Given the description of an element on the screen output the (x, y) to click on. 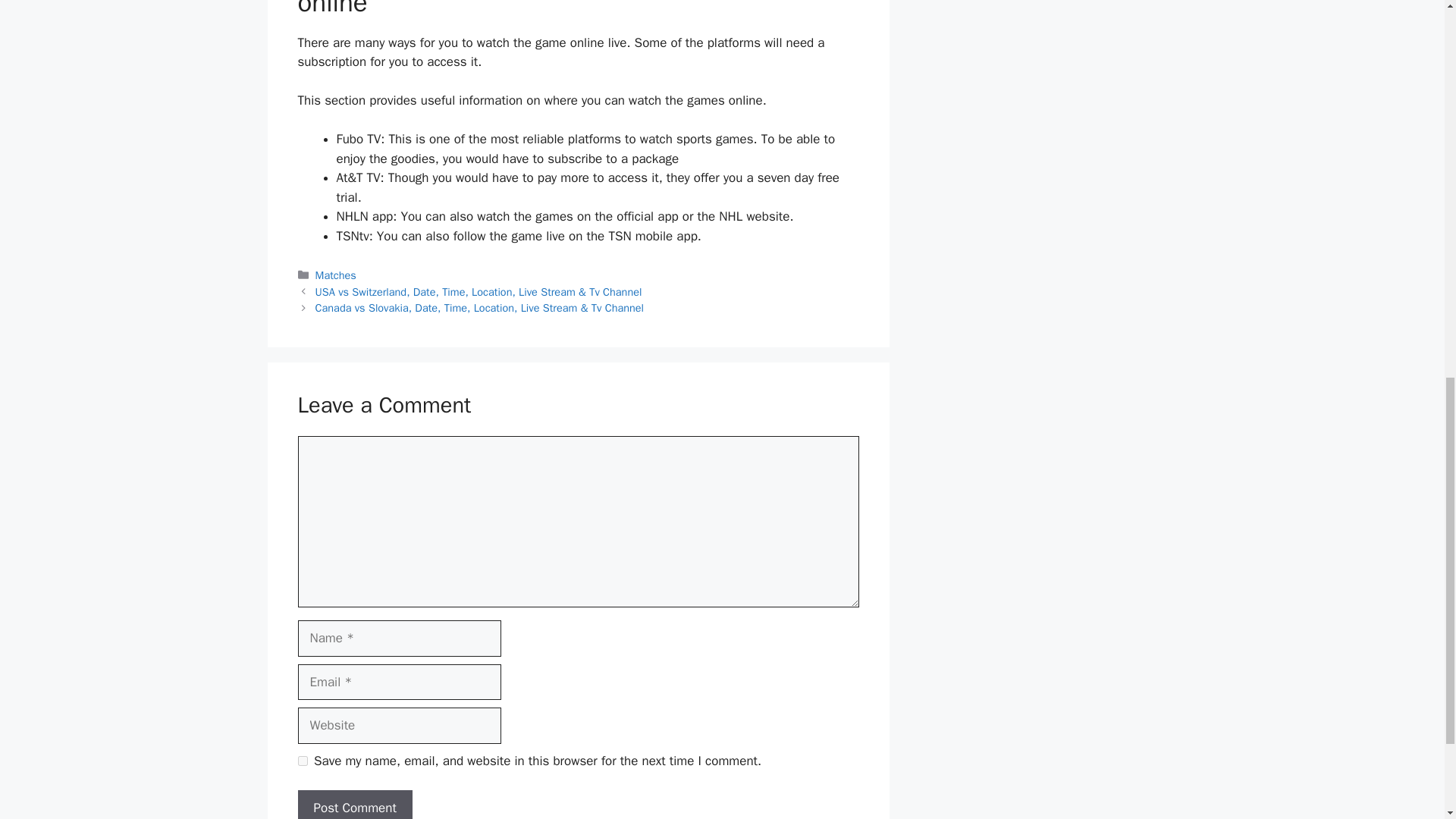
Matches (335, 274)
Post Comment (354, 804)
Post Comment (354, 804)
yes (302, 760)
